Given the description of an element on the screen output the (x, y) to click on. 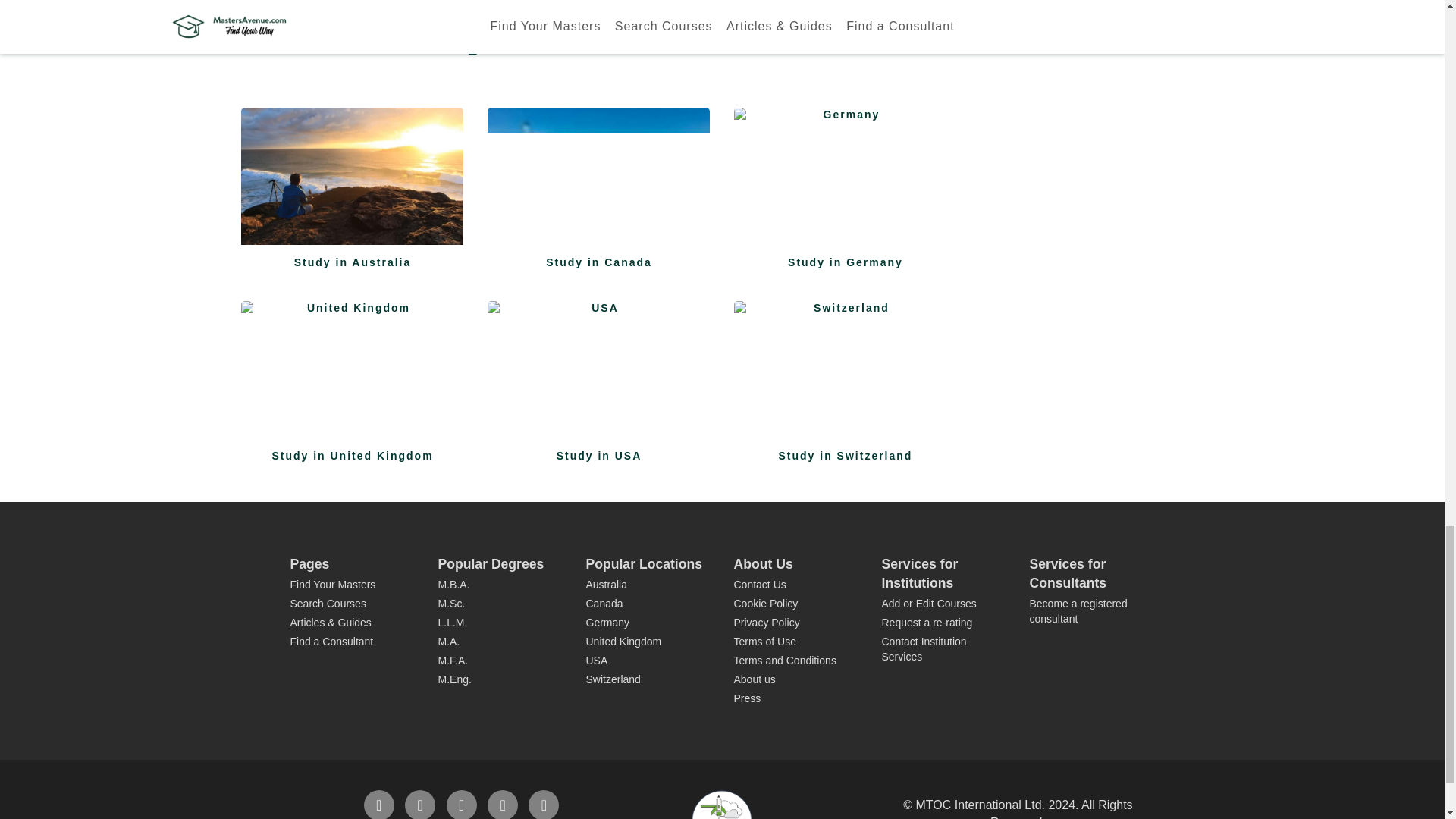
Study in Germany (844, 181)
Study in United Kingdom (352, 374)
M.Sc. (500, 604)
Find Your Masters (332, 584)
M.B.A. (500, 585)
L.L.M. (500, 622)
Study in USA (598, 374)
Study in Switzerland (844, 374)
Study in Australia (352, 181)
Search Courses (327, 603)
Study in Canada (598, 181)
Find a Consultant (330, 641)
